Given the description of an element on the screen output the (x, y) to click on. 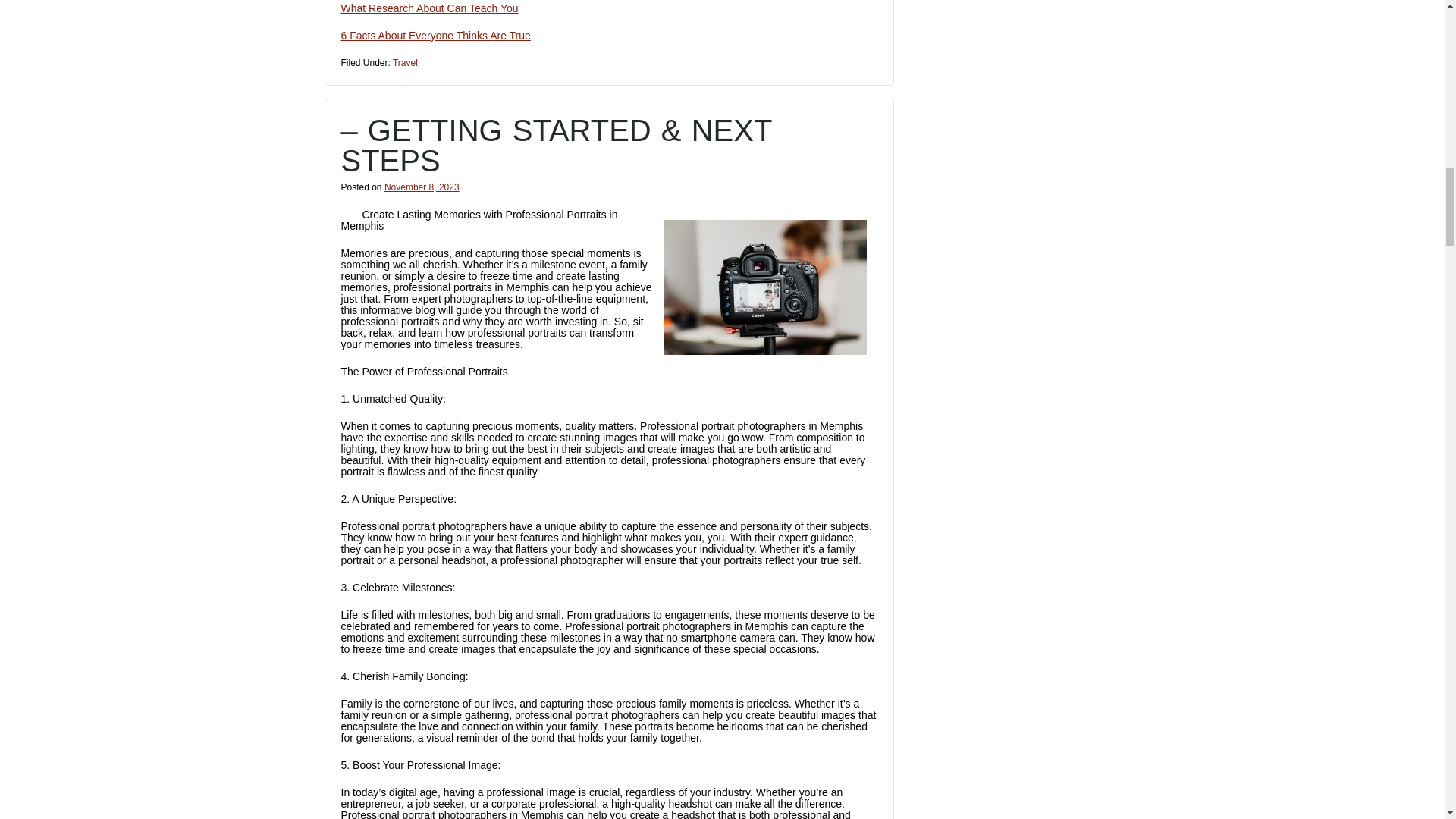
6 Facts About Everyone Thinks Are True (435, 35)
What Research About Can Teach You (429, 8)
Travel (405, 62)
November 8, 2023 (422, 186)
3:37 am (422, 186)
